Given the description of an element on the screen output the (x, y) to click on. 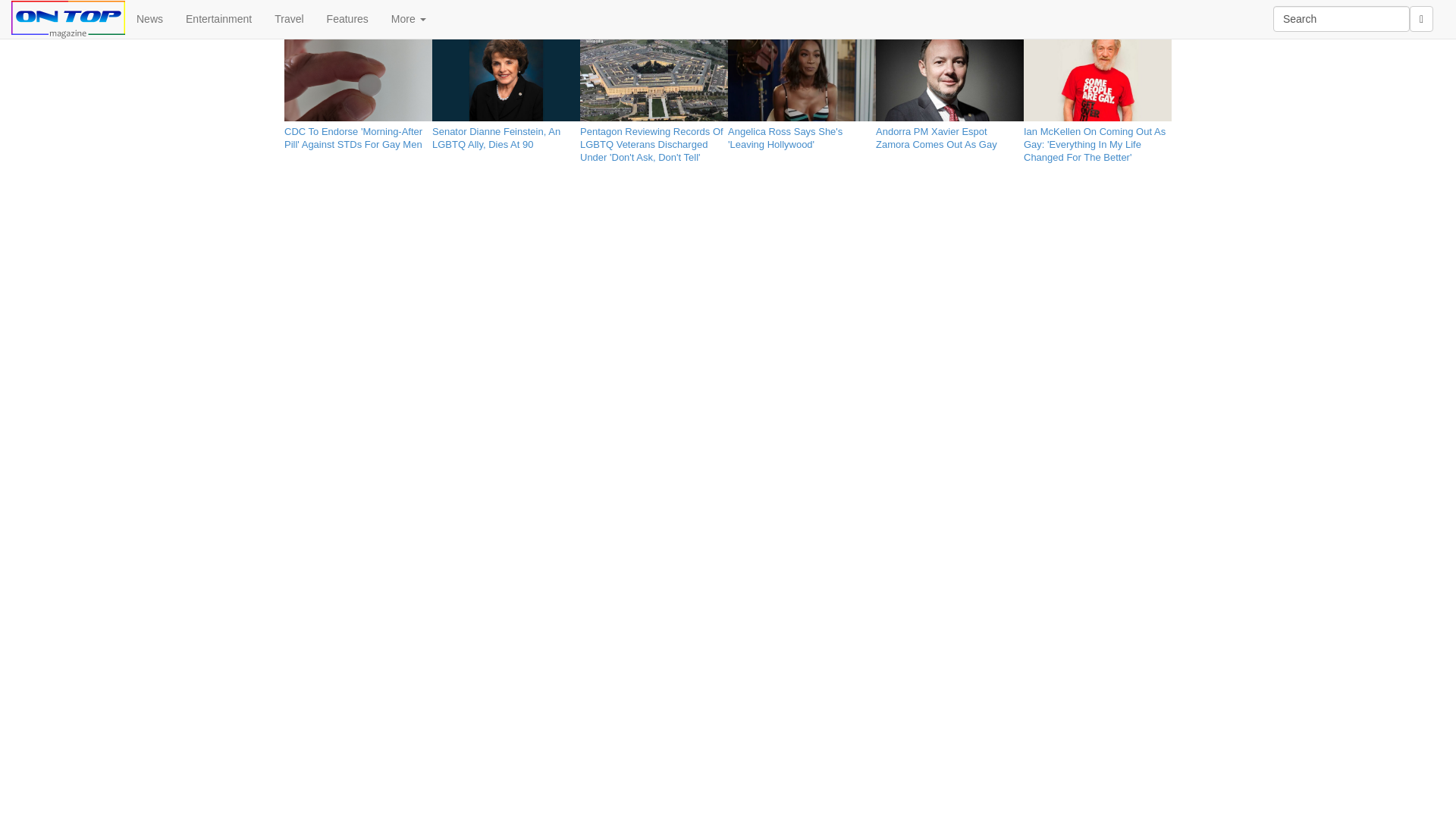
Travel (288, 18)
CDC To Endorse 'Morning-After Pill' Against STDs For Gay Men (357, 135)
Angelica Ross Says She's 'Leaving Hollywood' (802, 135)
Search by keyword (1340, 18)
Entertainment (218, 18)
Search (1340, 18)
More (409, 18)
Senator Dianne Feinstein, An LGBTQ Ally, Dies At 90 (505, 135)
